Given the description of an element on the screen output the (x, y) to click on. 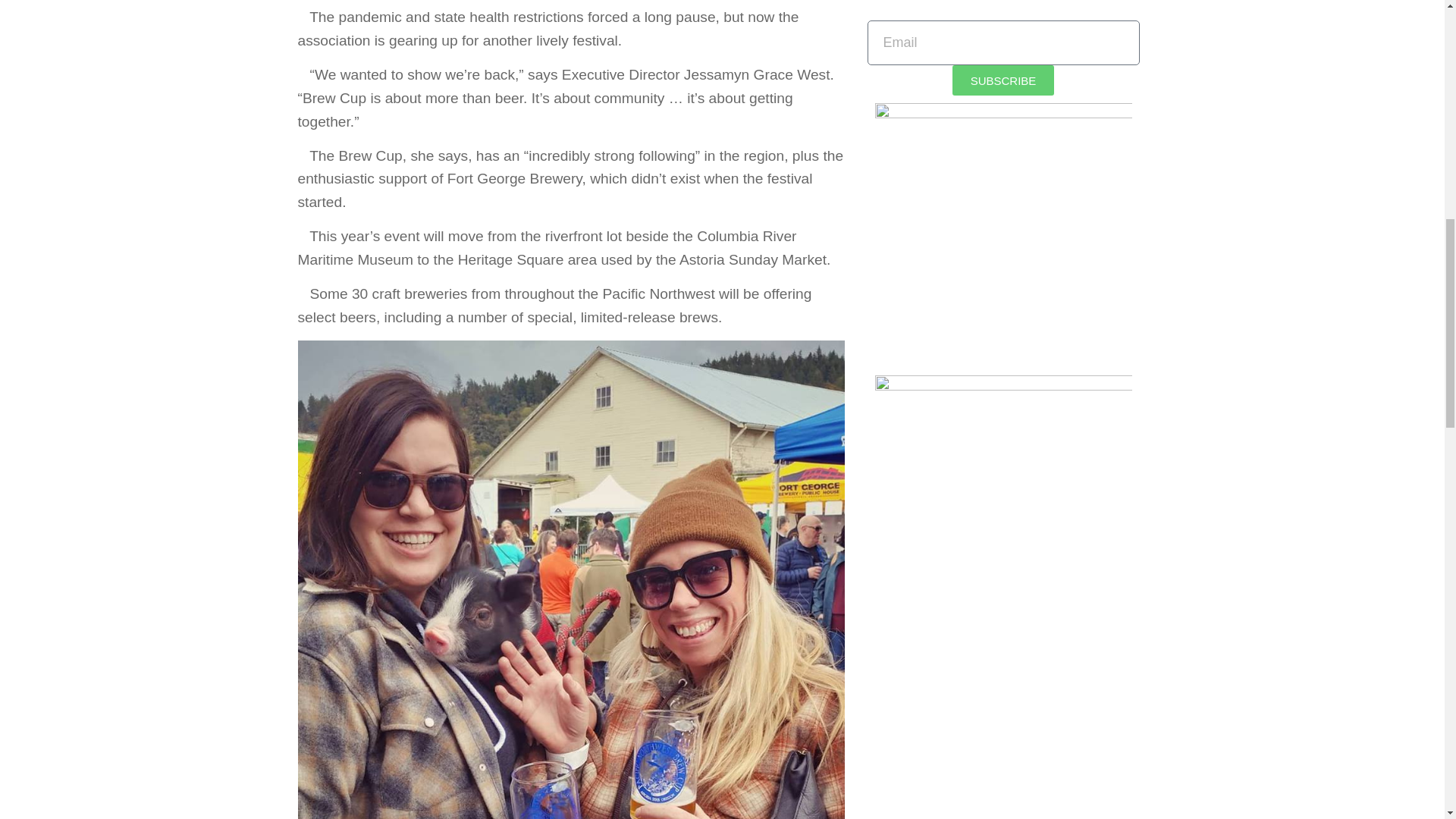
SUBSCRIBE (1003, 80)
